Given the description of an element on the screen output the (x, y) to click on. 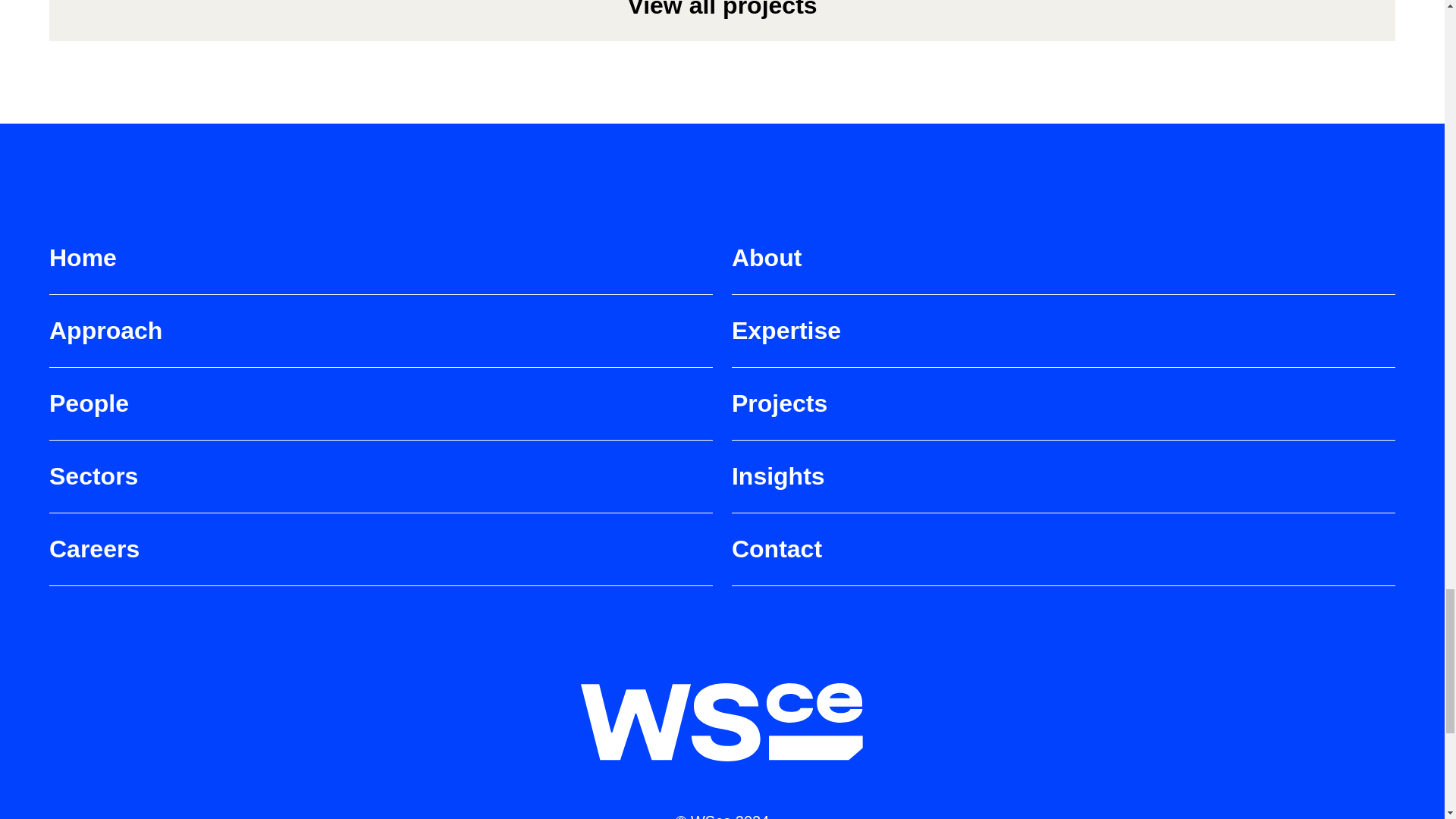
View all projects (721, 20)
Expertise (1063, 339)
About (1063, 266)
WSce (722, 722)
Sectors (381, 485)
Projects (1063, 412)
People (381, 412)
Approach (381, 339)
Home (381, 266)
